Given the description of an element on the screen output the (x, y) to click on. 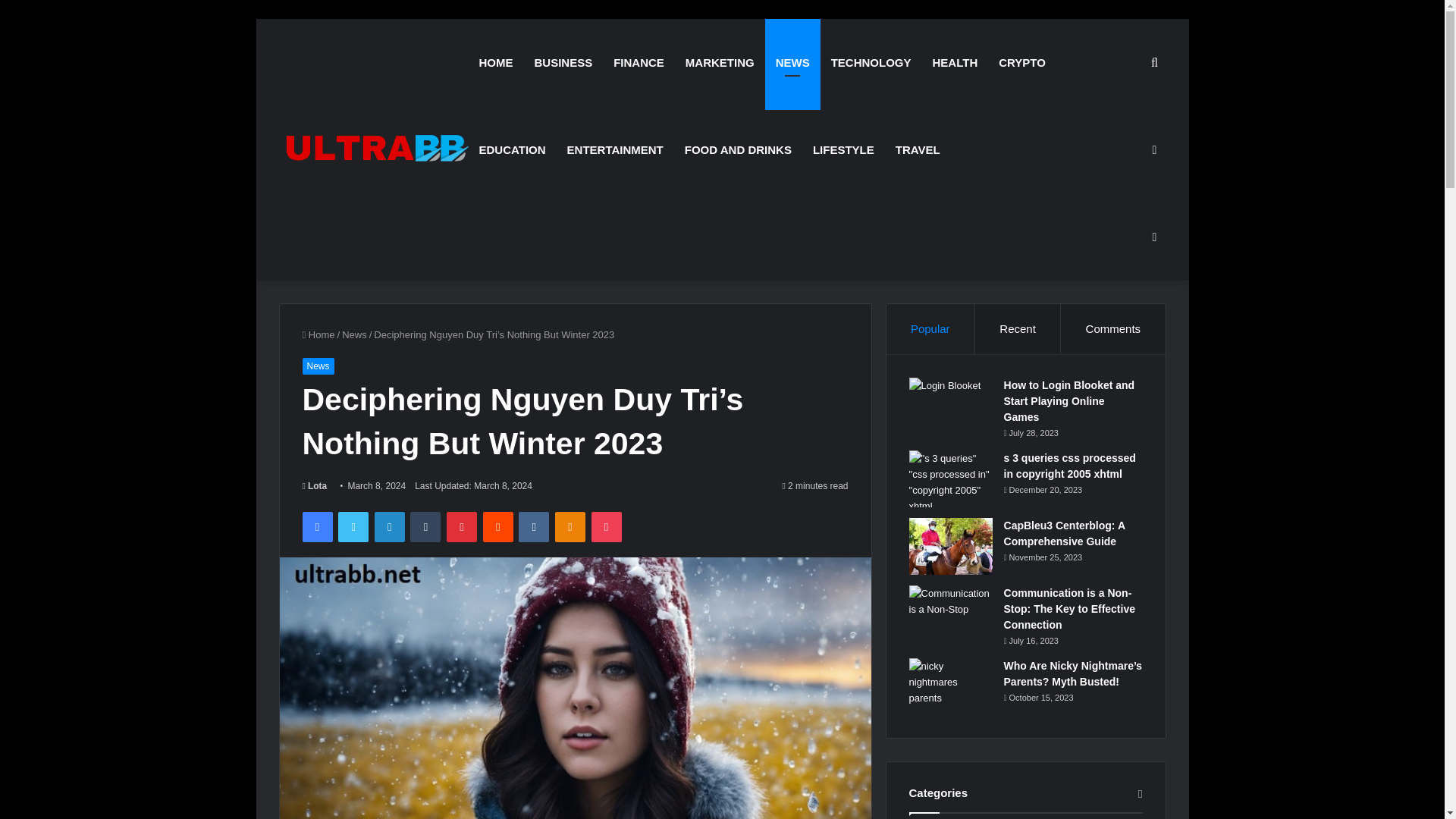
Reddit (498, 526)
FOOD AND DRINKS (738, 149)
Pinterest (461, 526)
News (354, 334)
ENTERTAINMENT (615, 149)
Pocket (606, 526)
Tumblr (425, 526)
Home (317, 334)
VKontakte (533, 526)
Tumblr (425, 526)
LinkedIn (389, 526)
Lota (313, 485)
News (317, 365)
Facebook (316, 526)
Ultrabb (373, 149)
